Given the description of an element on the screen output the (x, y) to click on. 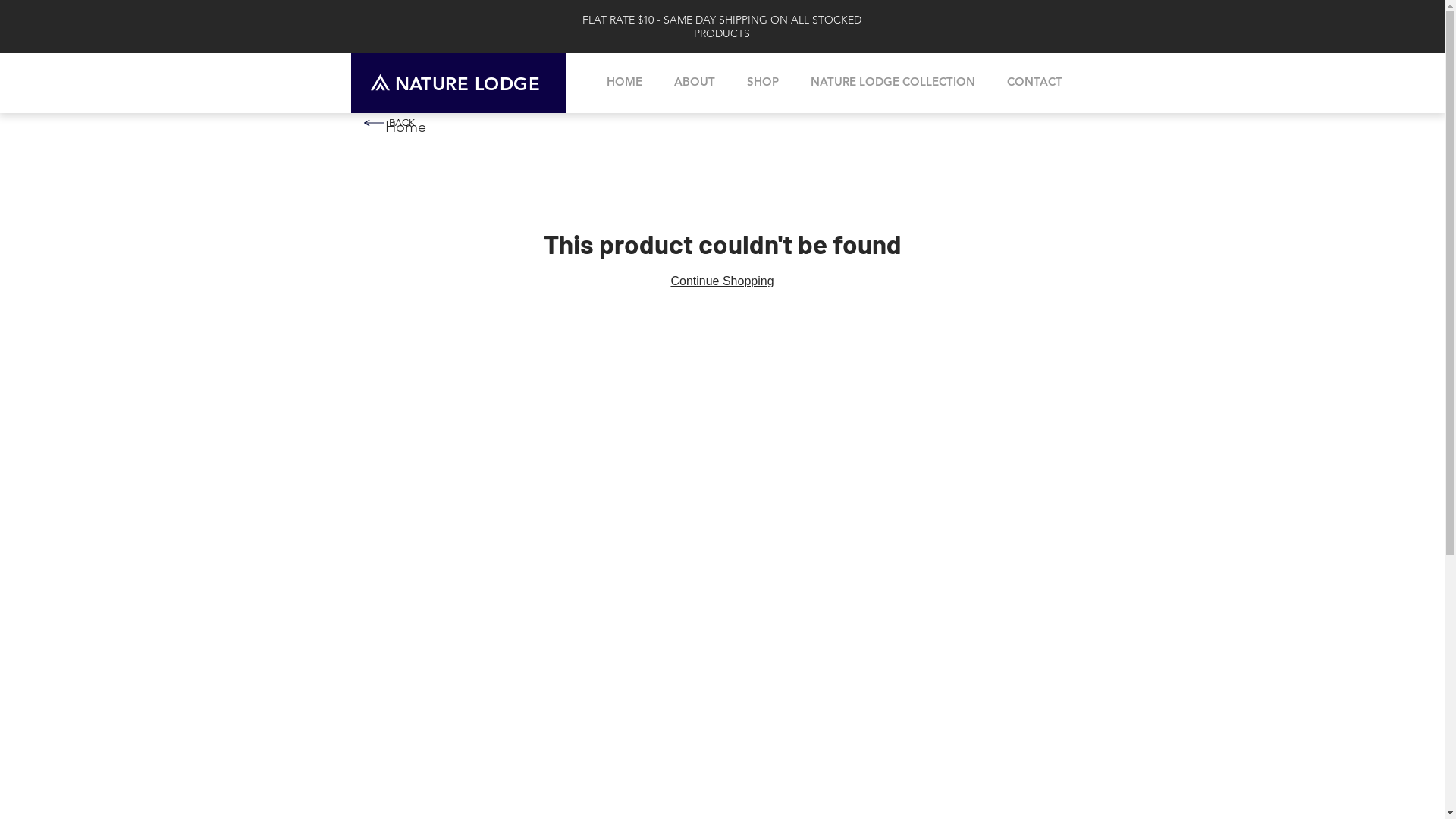
BACK Element type: text (401, 122)
FLAT RATE $10 - SAME DAY SHIPPING ON ALL STOCKED PRODUCTS Element type: text (721, 26)
NATURE LODGE Element type: text (466, 83)
SHOP Element type: text (762, 81)
NATURE LODGE COLLECTION Element type: text (892, 81)
ABOUT Element type: text (694, 81)
Home Element type: text (405, 126)
HOME Element type: text (623, 81)
Continue Shopping Element type: text (721, 280)
CONTACT Element type: text (1033, 81)
